Given the description of an element on the screen output the (x, y) to click on. 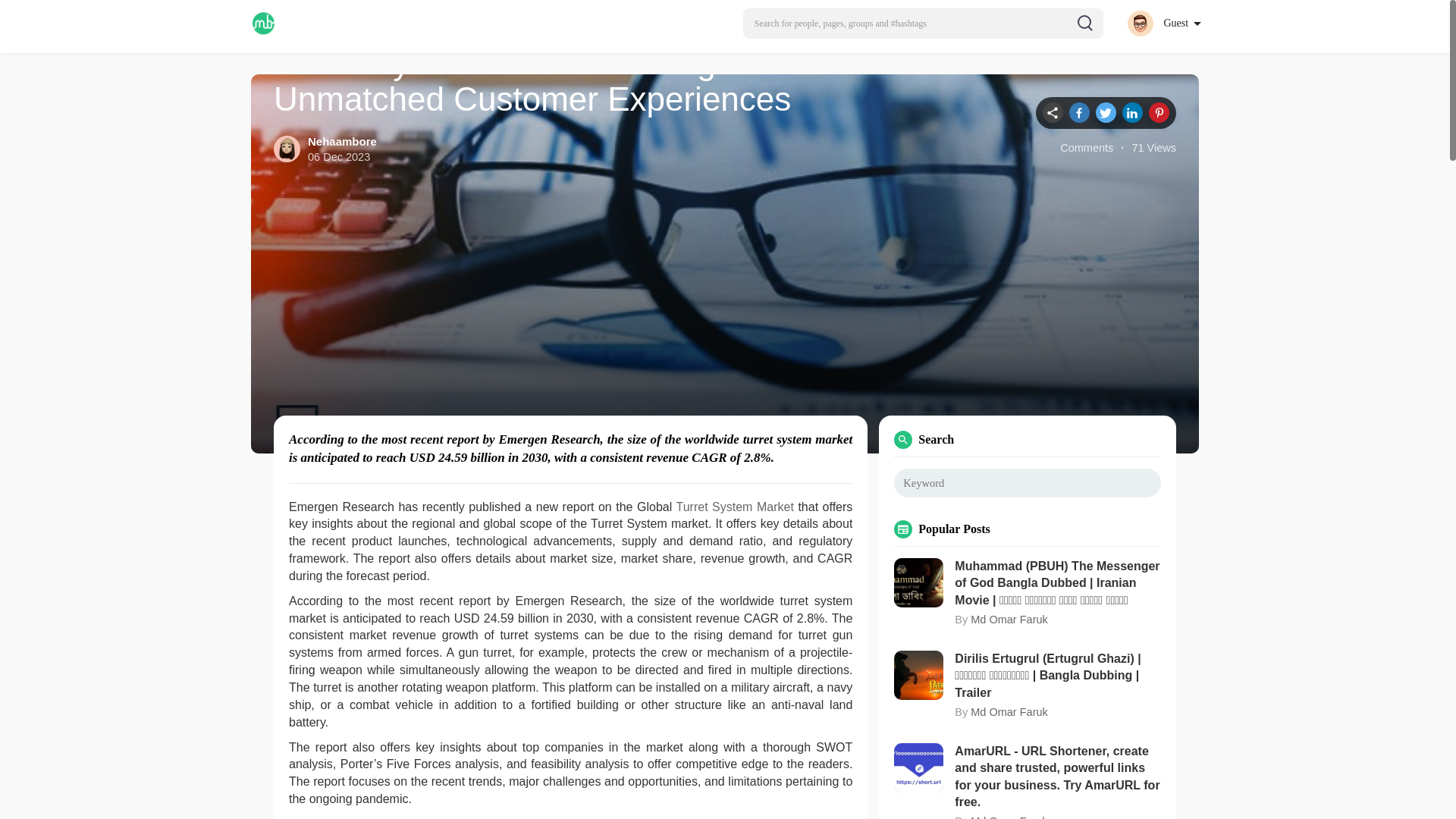
Twitter (1106, 112)
Nehaambore (342, 141)
Guest (1163, 23)
Pinterest (1158, 112)
Timeline (1052, 112)
Linkedin (1132, 112)
Comments (1086, 148)
Turret System Market (735, 506)
Facebook (1078, 112)
